Given the description of an element on the screen output the (x, y) to click on. 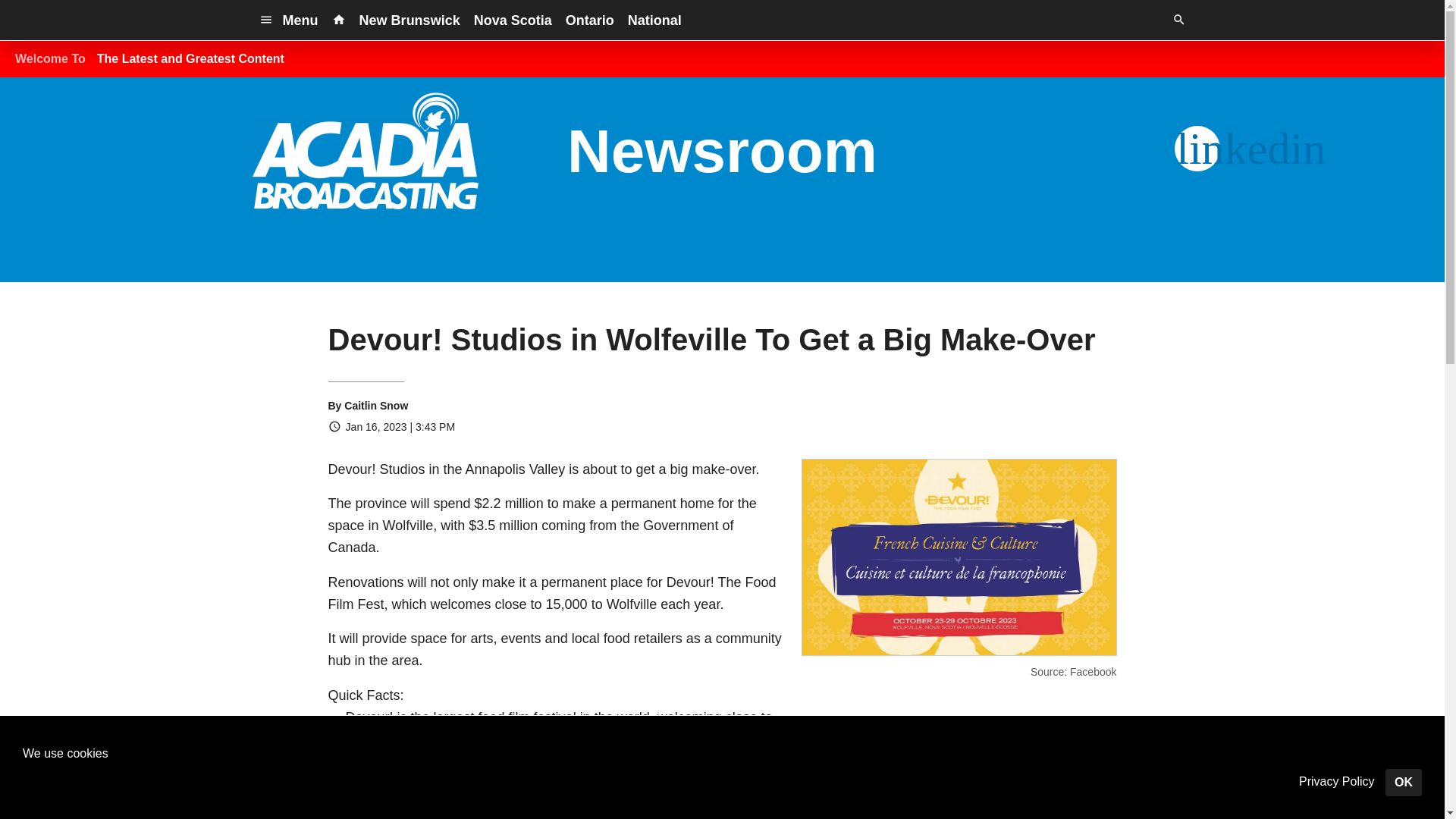
LinkedIn (1197, 148)
Nova Scotia (513, 19)
Ontario (590, 19)
New Brunswick (409, 19)
Privacy Policy (1336, 781)
The Latest and Greatest Content (190, 58)
The Latest and Greatest Content (190, 58)
National (654, 19)
Menu (287, 19)
OK (1404, 782)
